Given the description of an element on the screen output the (x, y) to click on. 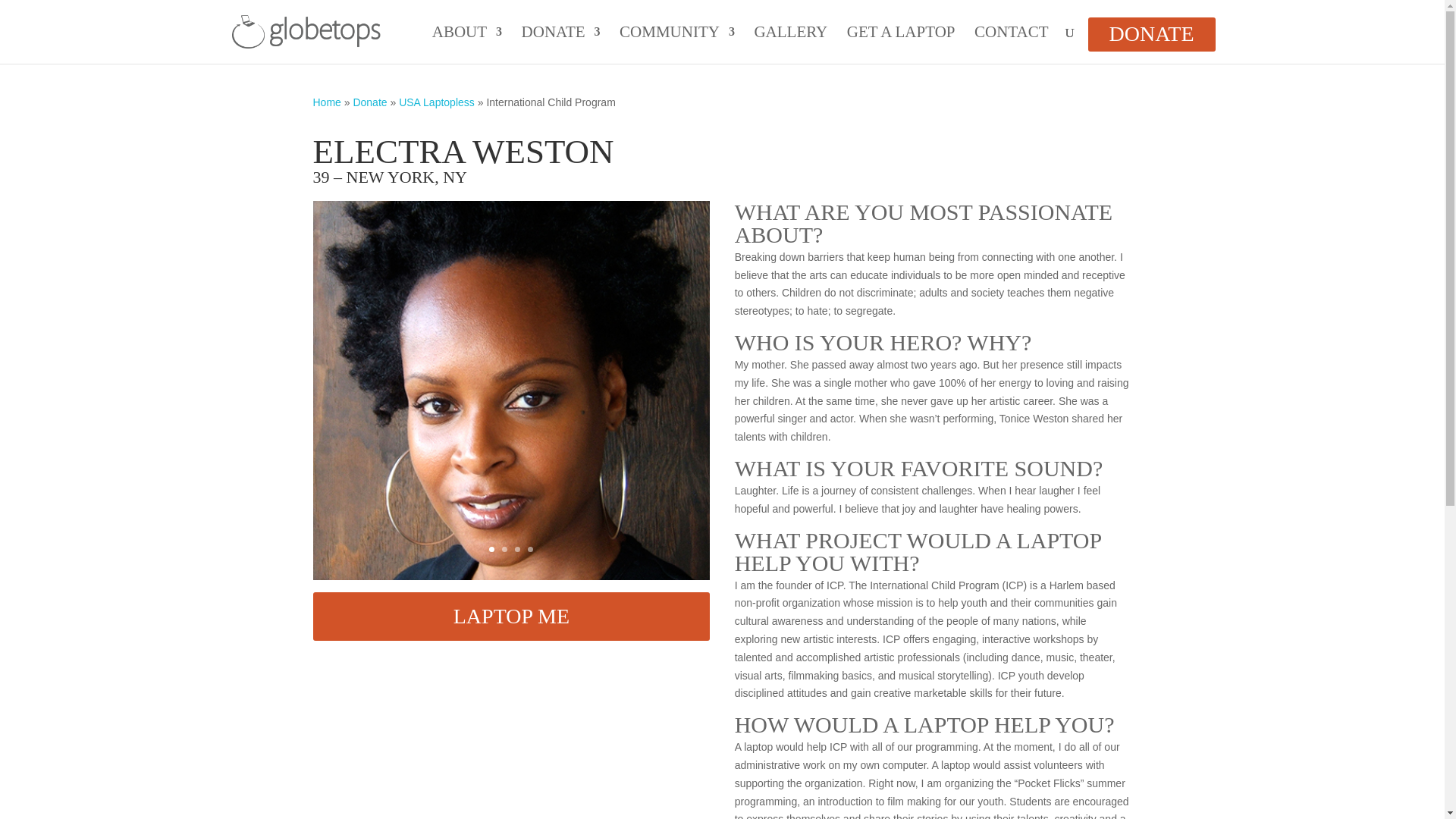
GALLERY (790, 44)
CONTACT (1011, 44)
DONATE (1150, 34)
ABOUT (467, 44)
COMMUNITY (677, 44)
GET A LAPTOP (901, 44)
DONATE (560, 44)
